Given the description of an element on the screen output the (x, y) to click on. 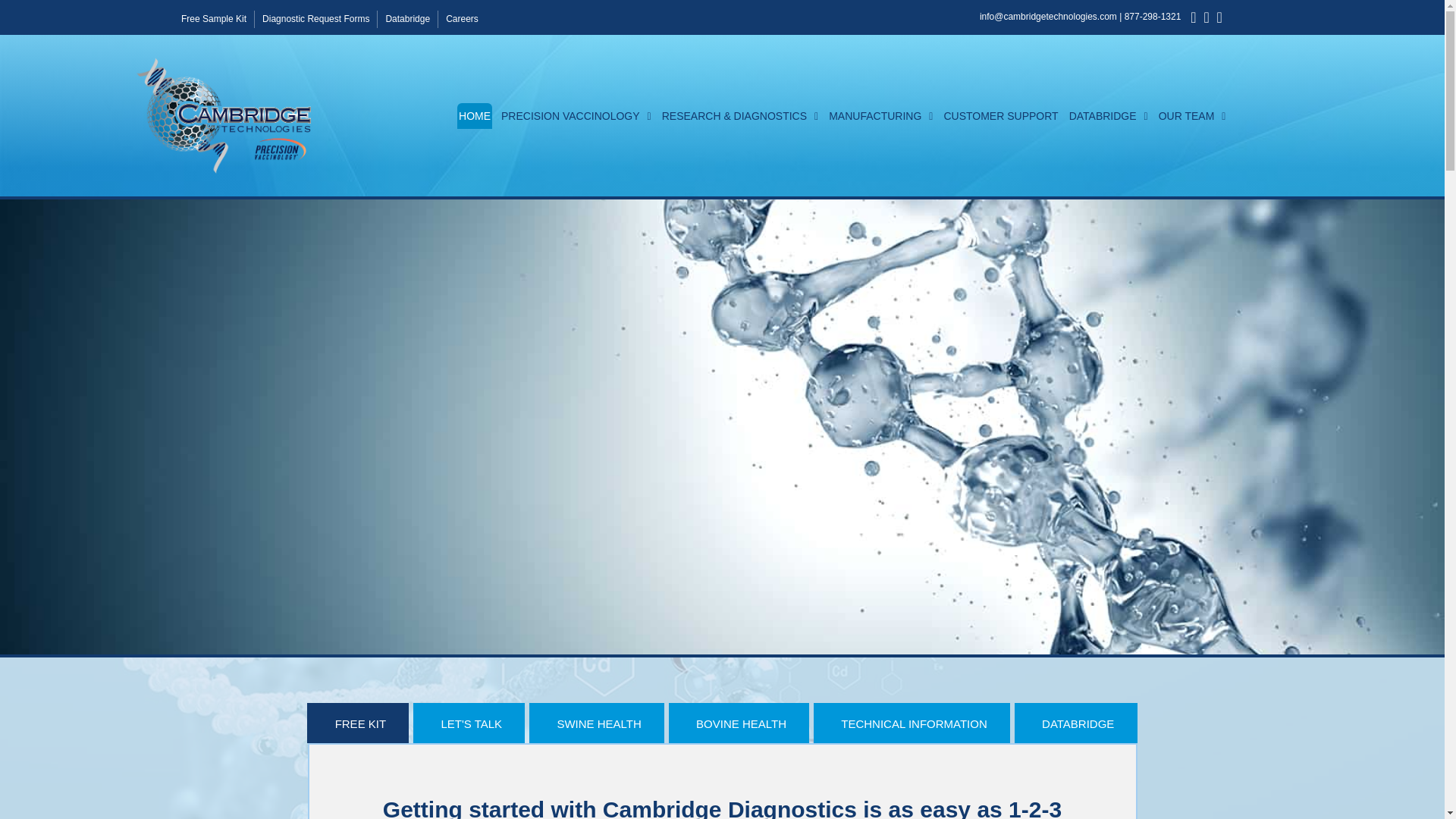
Cambridge Technologies Logo (223, 115)
